Given the description of an element on the screen output the (x, y) to click on. 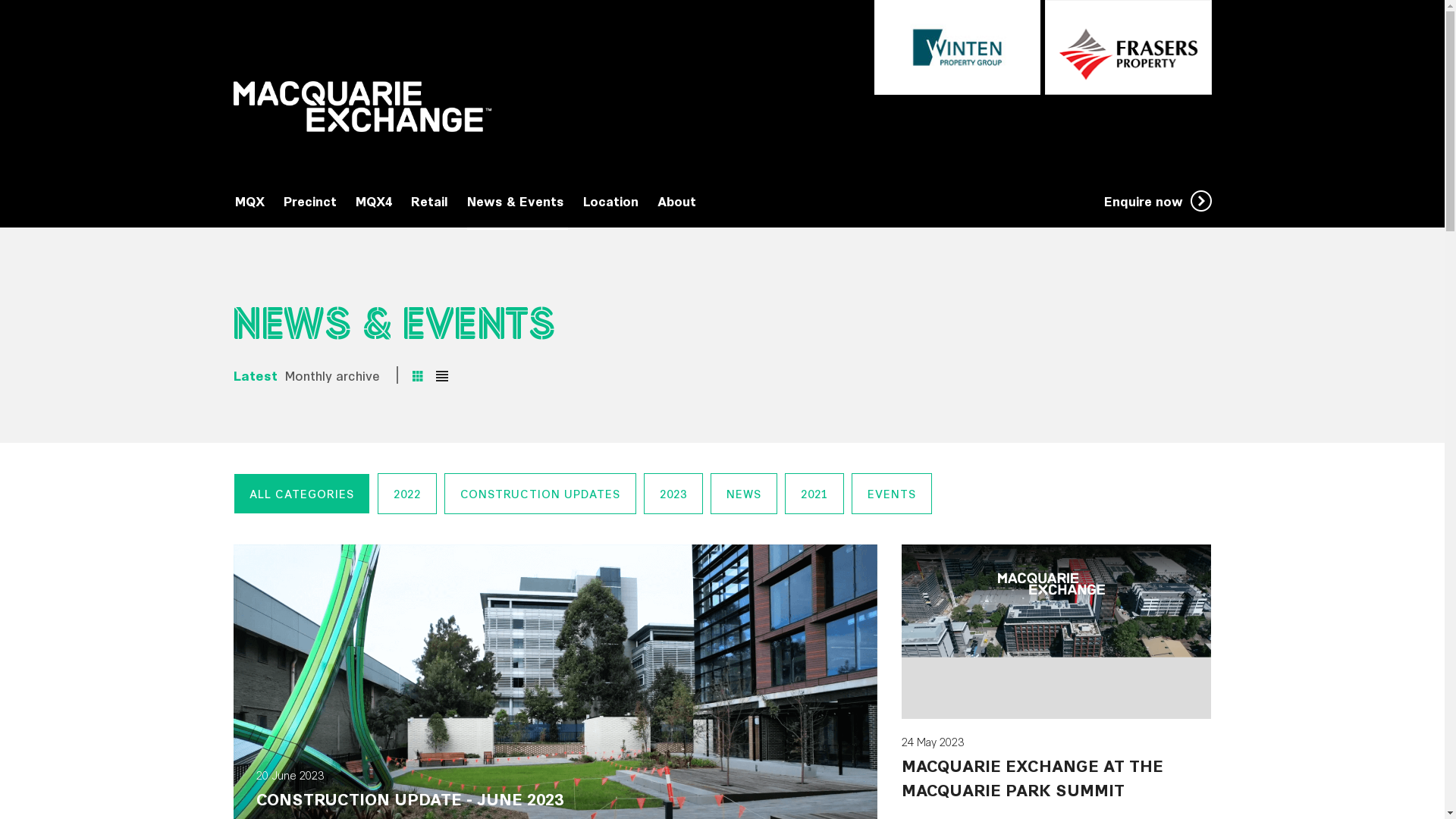
CONSTRUCTION UPDATE - JUNE 2023 Element type: text (409, 798)
20 June 2023 Element type: text (555, 787)
MACQUARIE EXCHANGE AT THE MACQUARIE PARK SUMMIT Element type: text (1032, 776)
News & Events Element type: text (517, 201)
Location Element type: text (611, 200)
MQX Element type: text (251, 200)
Latest Element type: text (255, 374)
Retail Element type: text (431, 200)
2023 Element type: text (672, 493)
CONSTRUCTION UPDATES Element type: text (540, 493)
Precinct Element type: text (311, 200)
ALL CATEGORIES Element type: text (301, 493)
2021 Element type: text (813, 493)
NEWS Element type: text (742, 493)
MQX4 Element type: text (374, 200)
Enquire now Element type: text (1157, 200)
2022 Element type: text (406, 493)
24 May 2023 Element type: text (1056, 754)
About Element type: text (675, 200)
EVENTS Element type: text (890, 493)
